Given the description of an element on the screen output the (x, y) to click on. 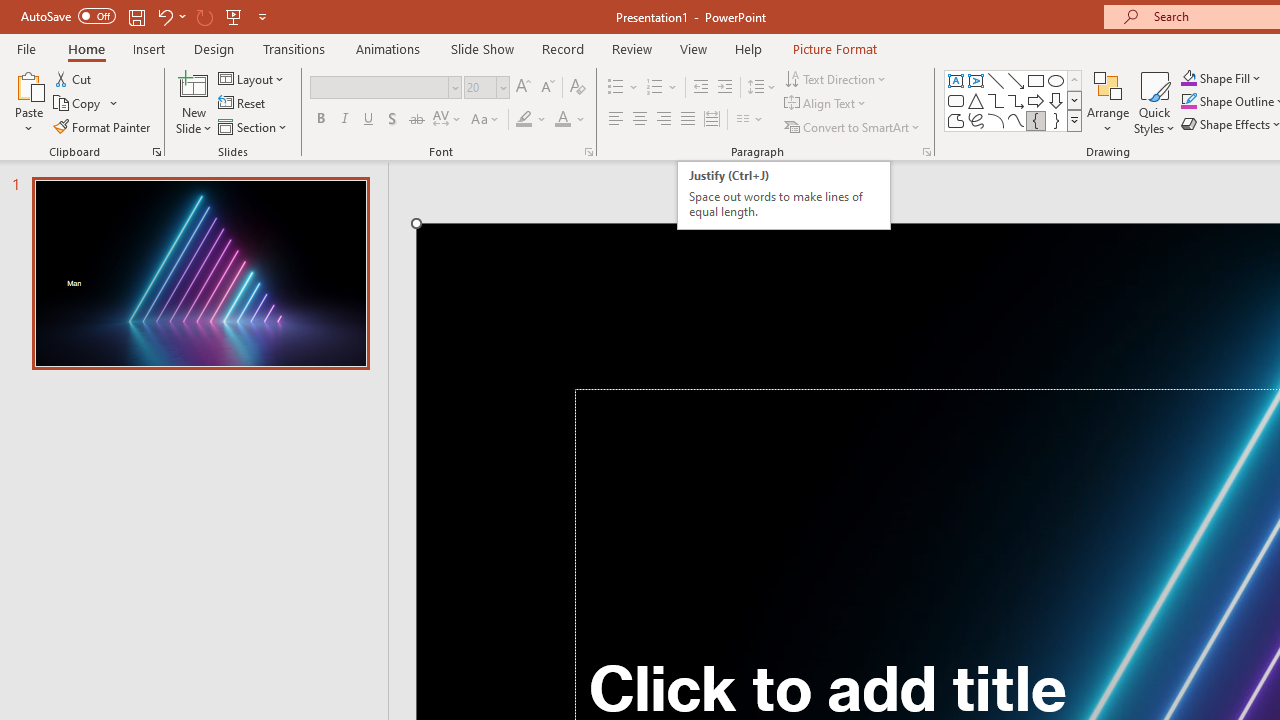
Picture Format (834, 48)
